Given the description of an element on the screen output the (x, y) to click on. 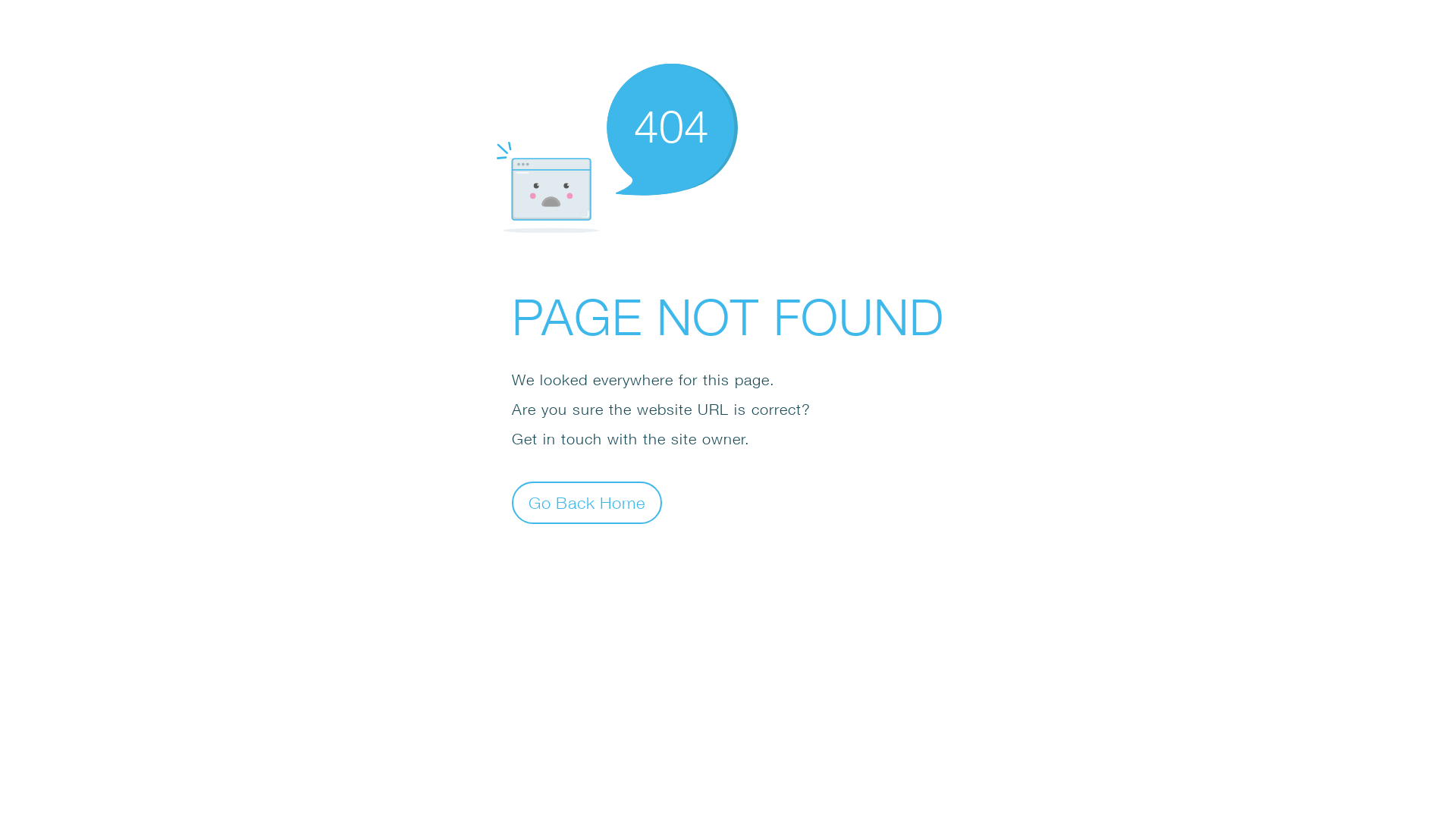
Go Back Home Element type: text (586, 502)
